Given the description of an element on the screen output the (x, y) to click on. 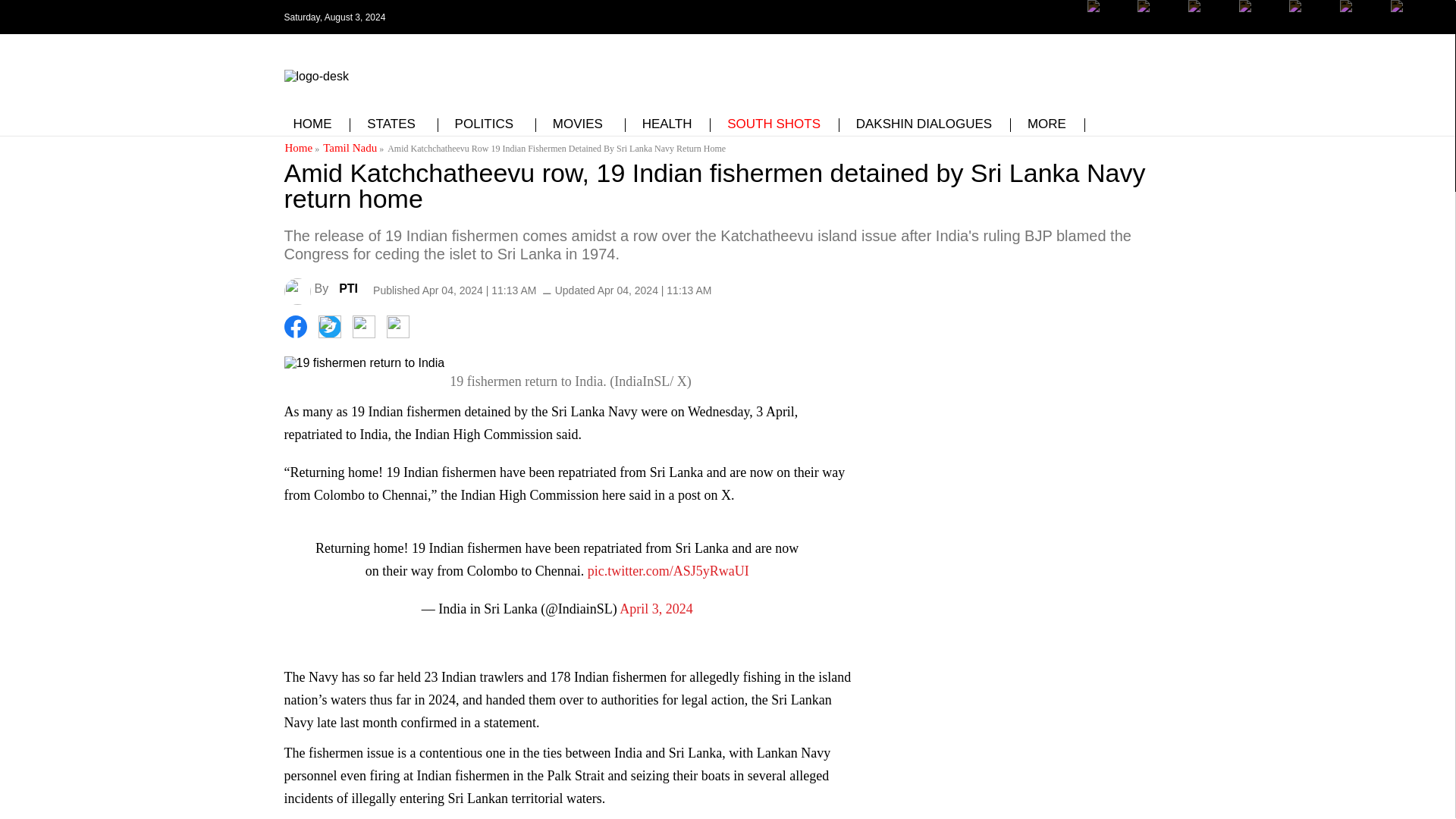
logo (315, 72)
SouthFirst youtube (1260, 27)
SouthFirst instagram (1209, 16)
SouthFirst facebook (1108, 16)
SouthFirst youtube (1309, 27)
logo-desk (315, 76)
SouthFirst facebook (1108, 27)
SouthFirst twitter (1158, 16)
SouthFirst youtube (1309, 16)
SouthFirst instagram (1209, 27)
SouthFirst youtube (1260, 16)
SouthFirst twitter (1158, 27)
